Given the description of an element on the screen output the (x, y) to click on. 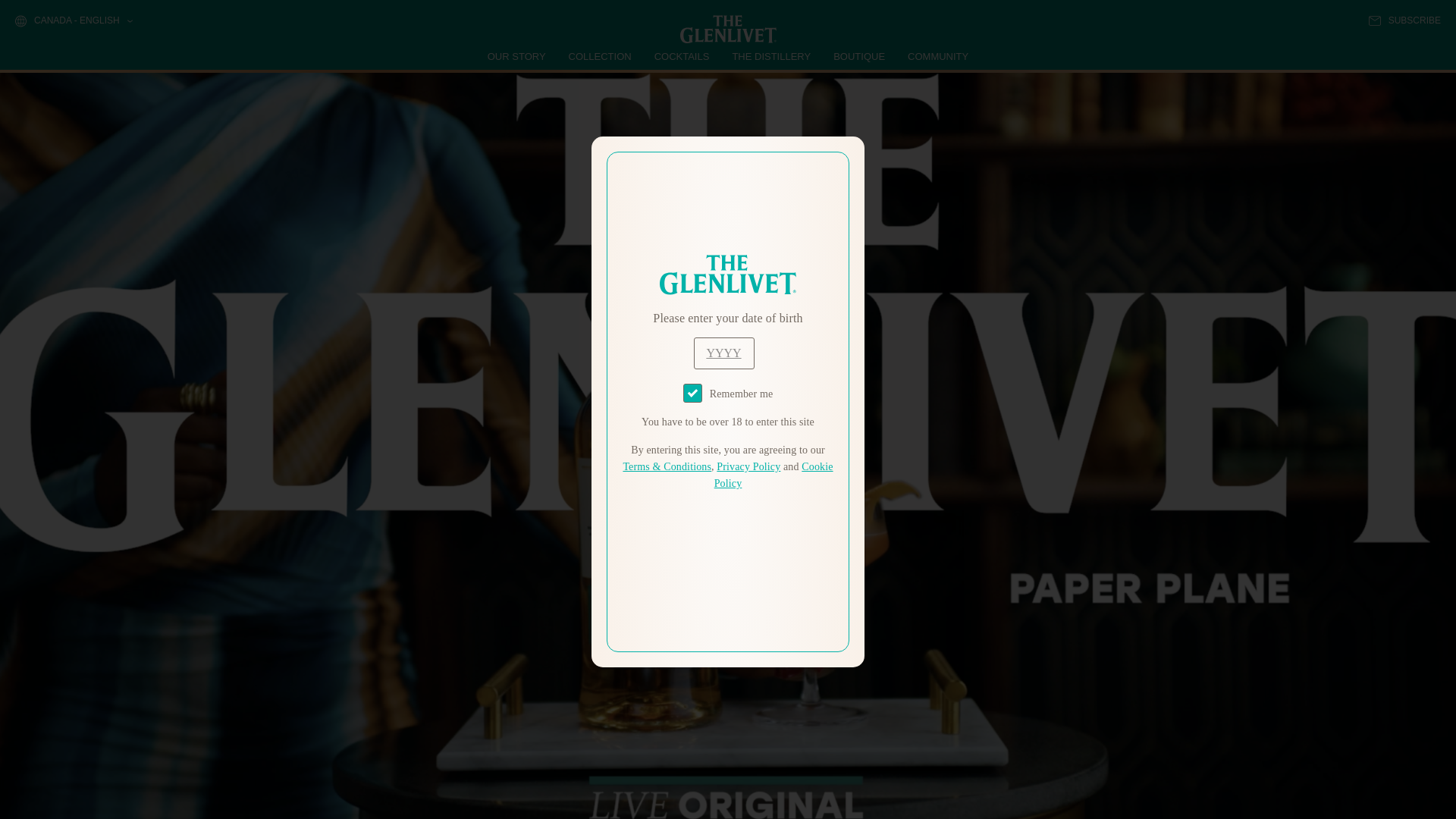
CANADA - ENGLISH (73, 21)
SUBSCRIBE (1404, 20)
BOUTIQUE (858, 56)
Cookie Policy (773, 474)
OUR STORY (516, 56)
COLLECTION (600, 56)
year (723, 353)
THE DISTILLERY (771, 56)
COCKTAILS (681, 56)
Privacy Policy (748, 466)
COMMUNITY (937, 56)
